Given the description of an element on the screen output the (x, y) to click on. 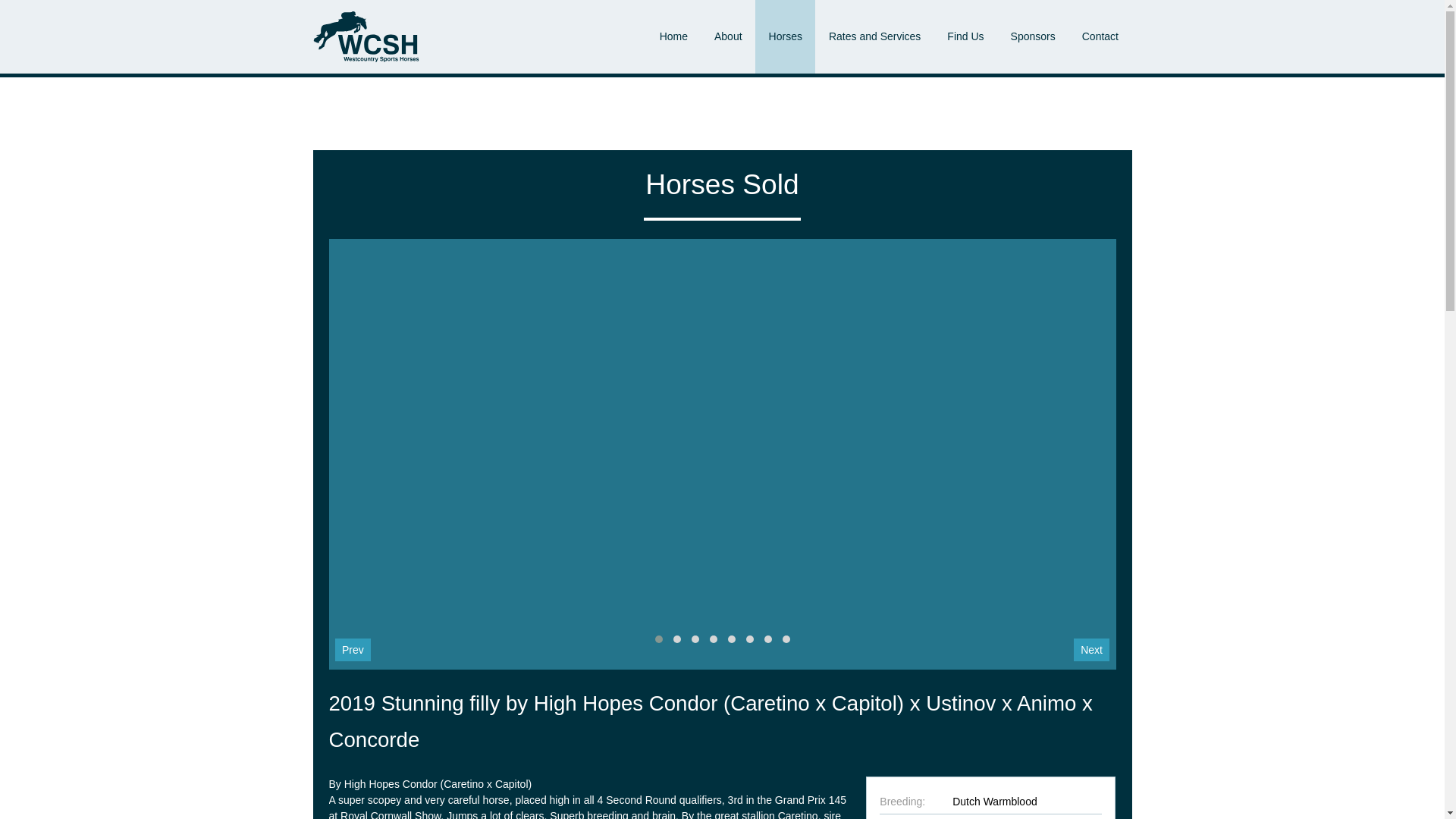
Rates and Services (874, 36)
Sponsors (1032, 36)
Sponsors (1032, 36)
Rates and Services (874, 36)
